Given the description of an element on the screen output the (x, y) to click on. 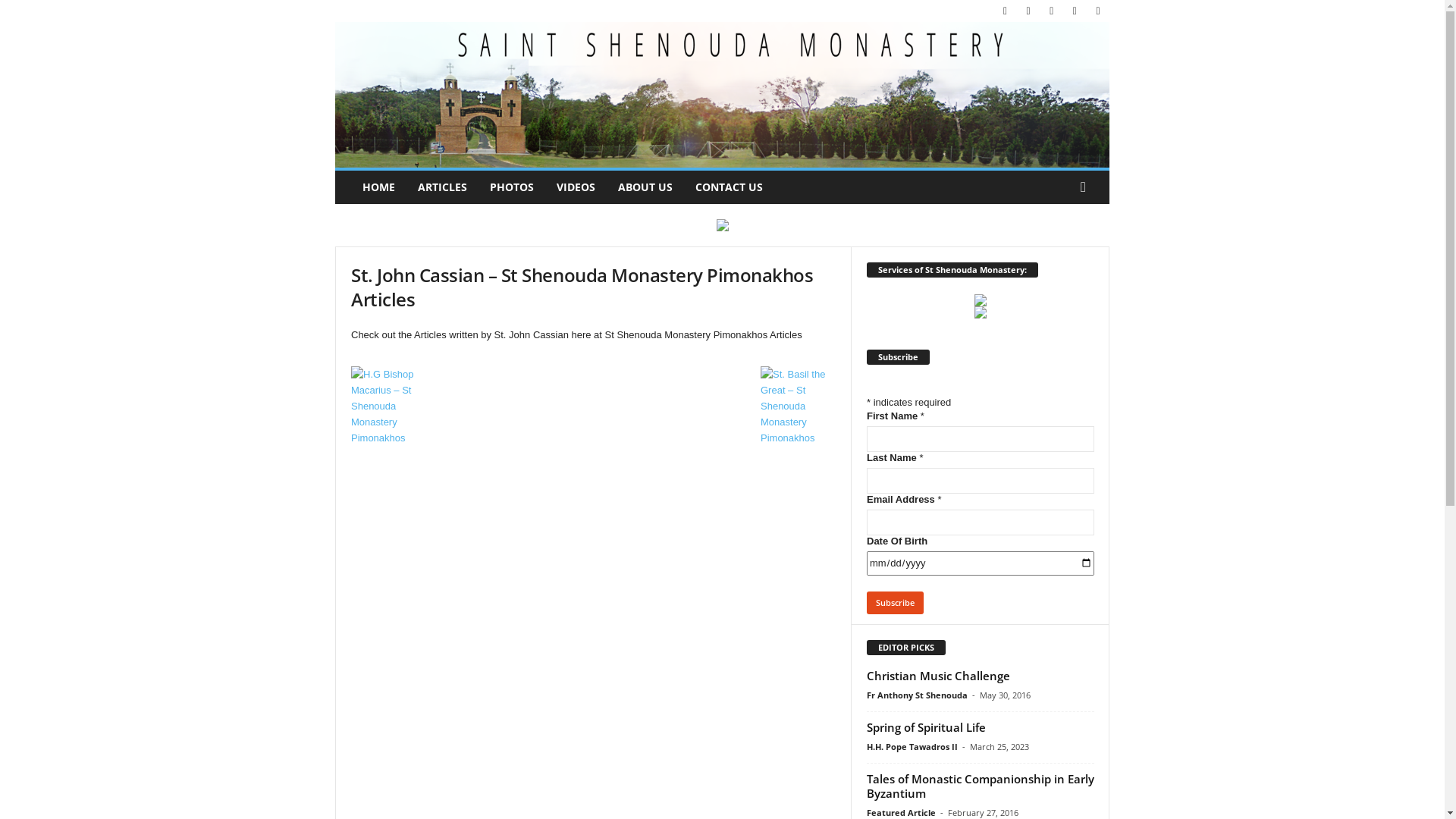
Instagram Element type: hover (1028, 10)
Subscribe Element type: text (894, 602)
Featured Article Element type: text (900, 812)
VIDEOS Element type: text (575, 186)
St Shenouda Monastery Element type: text (722, 94)
Soundcloud Element type: hover (1051, 10)
Spring of Spiritual Life Element type: text (925, 726)
ABOUT US Element type: text (645, 186)
Tales of Monastic Companionship in Early Byzantium Element type: text (980, 785)
PHOTOS Element type: text (511, 186)
Christian Music Challenge Element type: text (938, 675)
ARTICLES Element type: text (442, 186)
Fr Anthony St Shenouda Element type: text (916, 694)
Spotify Element type: hover (1074, 10)
Facebook Element type: hover (1005, 10)
H.H. Pope Tawadros II Element type: text (911, 746)
HOME Element type: text (378, 186)
Christian Coptic Orthodox Monastery Element type: hover (722, 94)
CONTACT US Element type: text (729, 186)
Youtube Element type: hover (1097, 10)
